Given the description of an element on the screen output the (x, y) to click on. 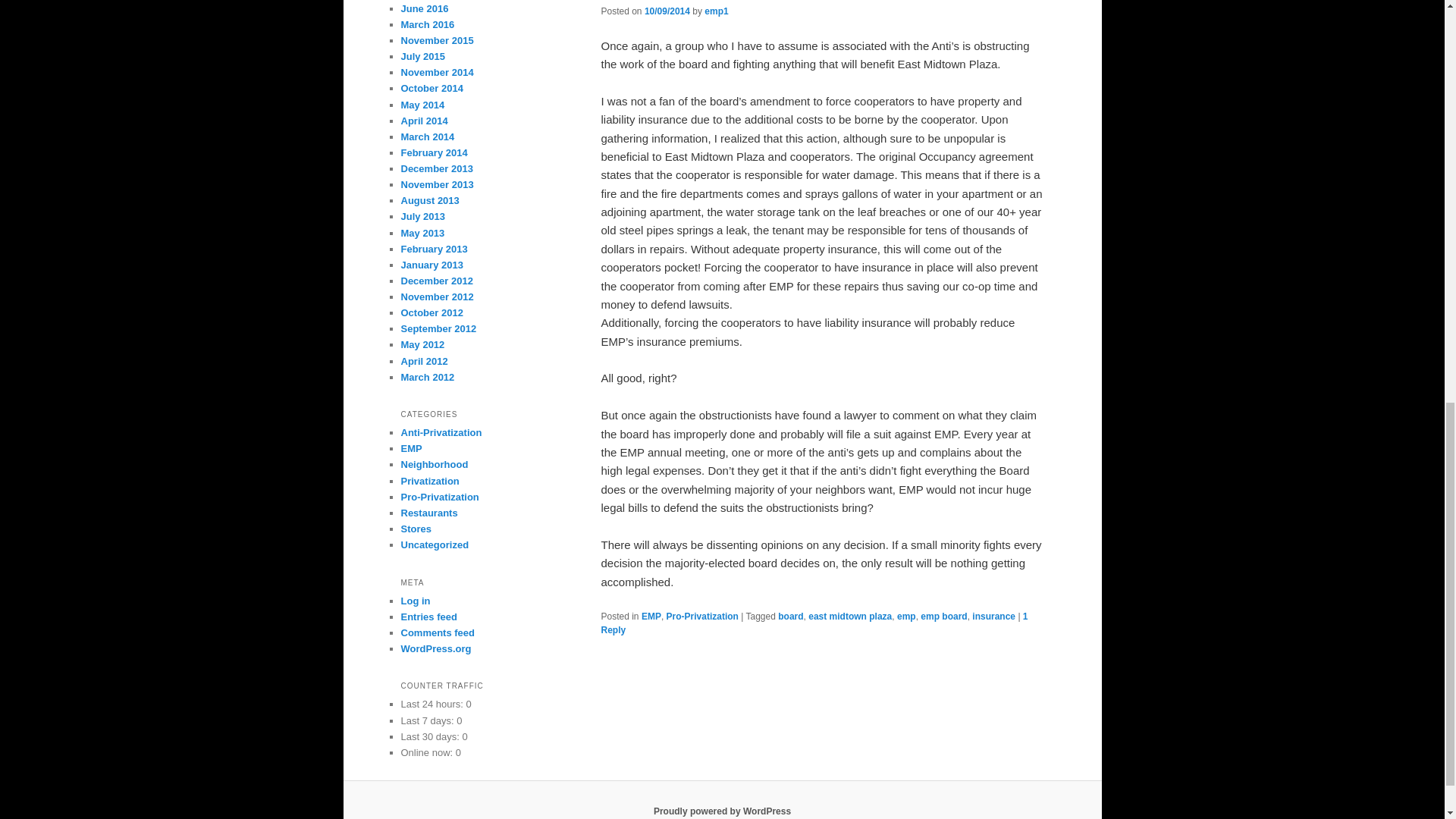
emp1 (716, 10)
View all posts by emp1 (716, 10)
board (790, 615)
insurance (993, 615)
11:56 am (667, 10)
1 Reply (813, 622)
emp (905, 615)
east midtown plaza (849, 615)
Pro-Privatization (702, 615)
Semantic Personal Publishing Platform (721, 810)
